Given the description of an element on the screen output the (x, y) to click on. 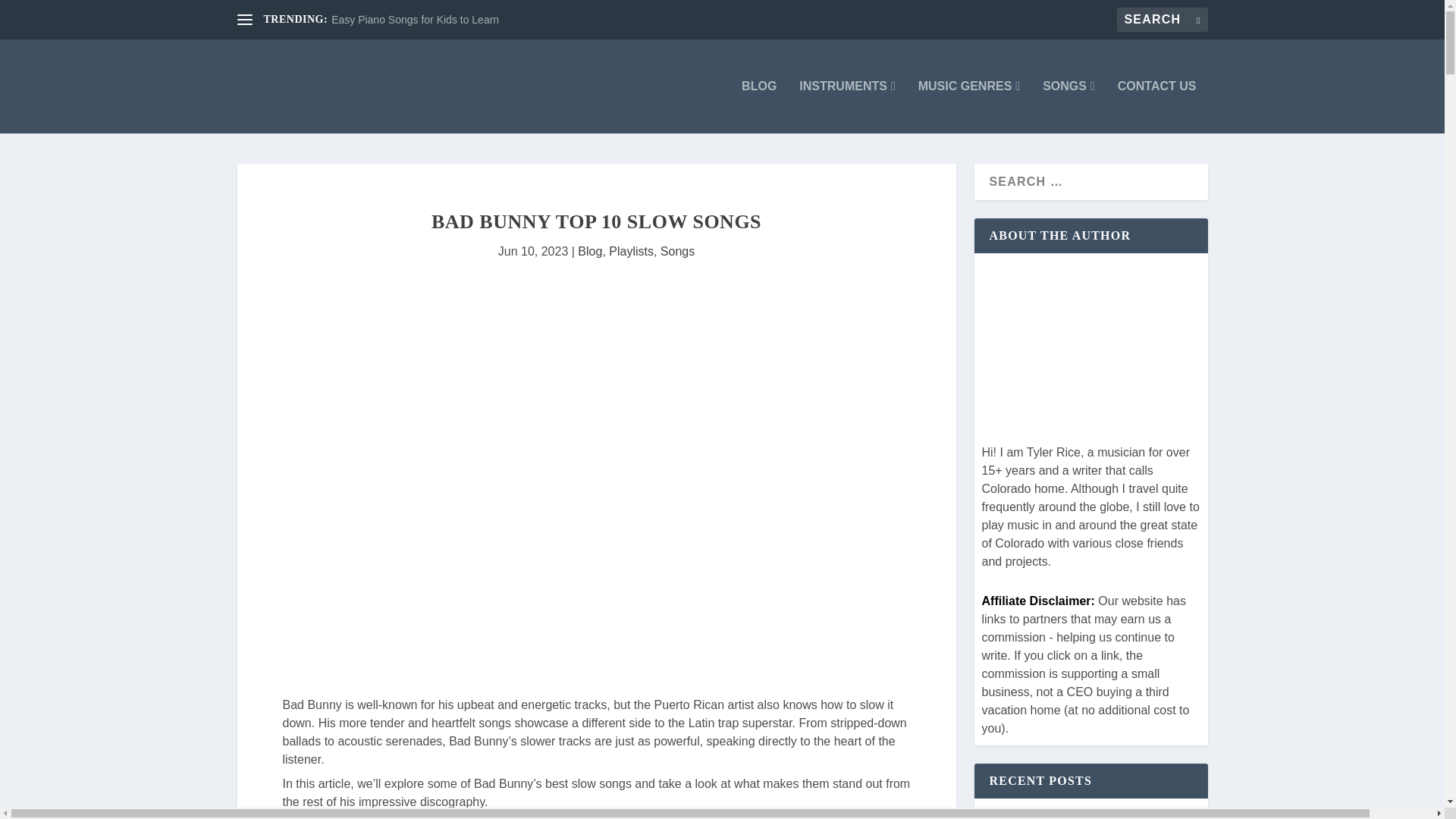
Search for: (1161, 19)
Easy Piano Songs for Kids to Learn (415, 19)
INSTRUMENTS (847, 106)
